Given the description of an element on the screen output the (x, y) to click on. 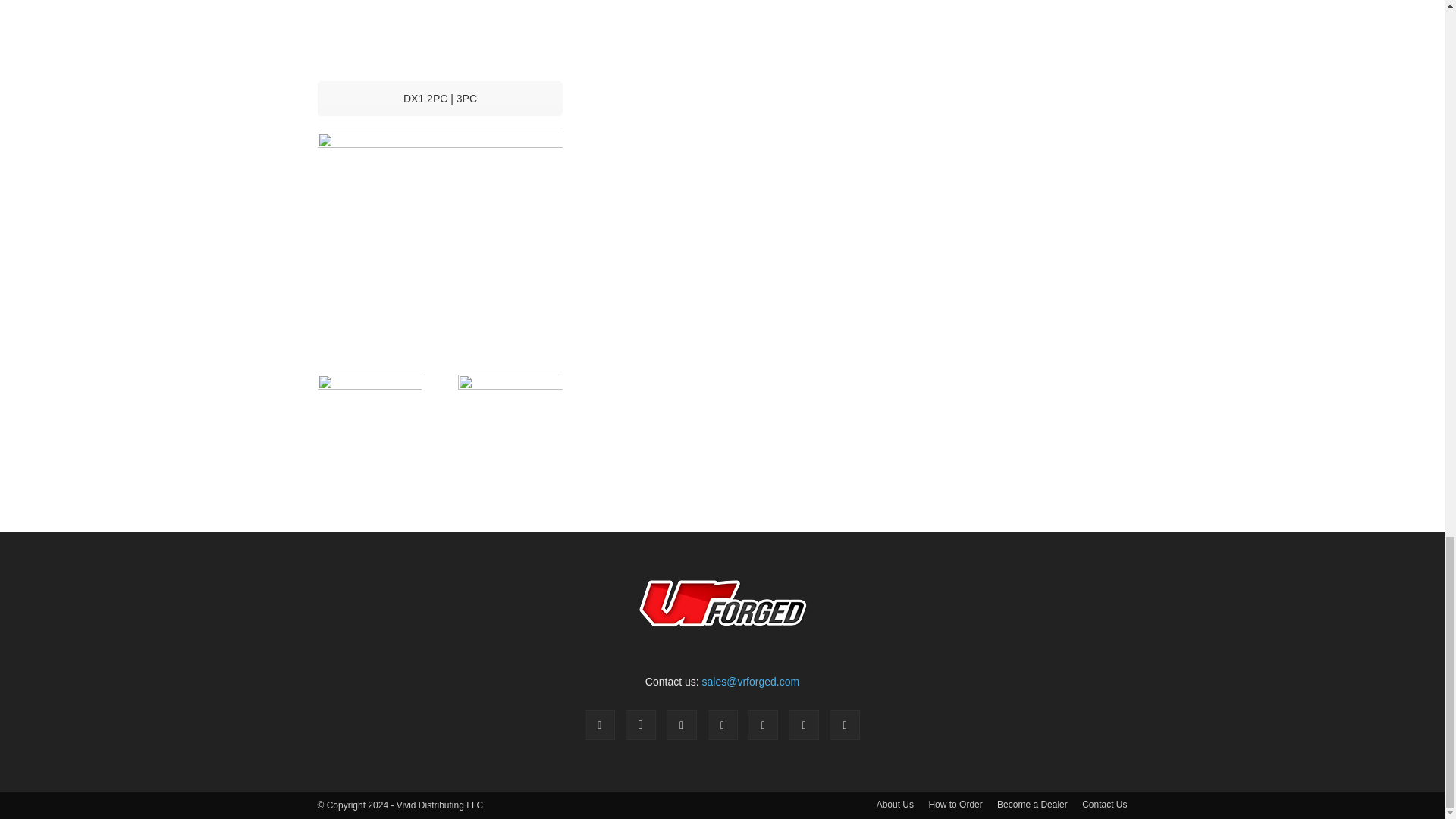
VR Forged Wheels (722, 604)
Facebook (599, 725)
TikTok (762, 725)
Linkedin (681, 725)
Instagram (641, 725)
Pinterest (721, 725)
